Given the description of an element on the screen output the (x, y) to click on. 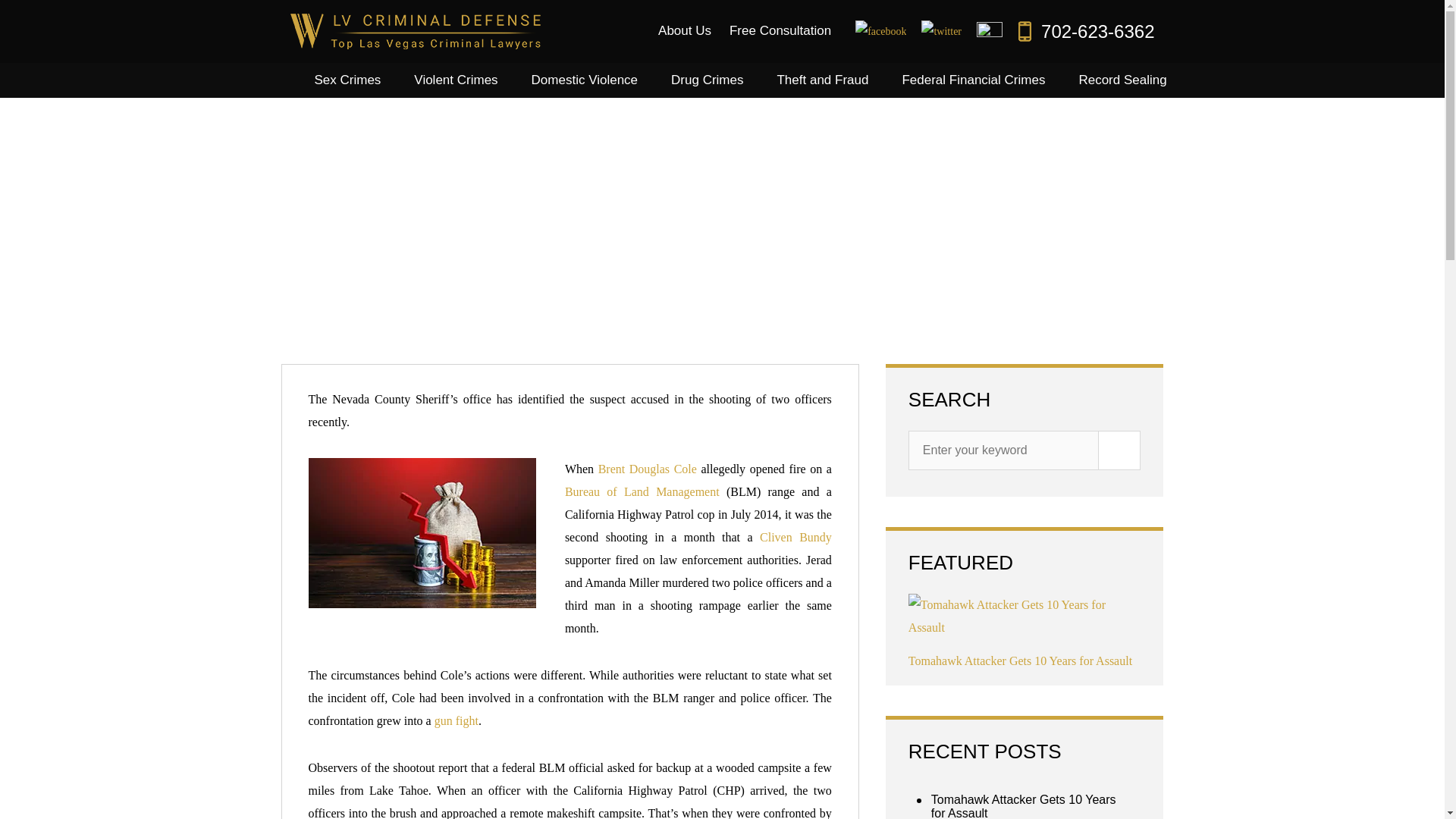
Drug Crimes (707, 80)
Theft and Fraud (822, 80)
Go to the Blog category archives. (361, 301)
Go to LV Criminal Defense. (309, 301)
Sex Crimes (347, 80)
Domestic Violence (584, 80)
Violent Crimes (455, 80)
702-623-6362 (1085, 31)
Free Consultation (780, 30)
About Us (684, 30)
